Given the description of an element on the screen output the (x, y) to click on. 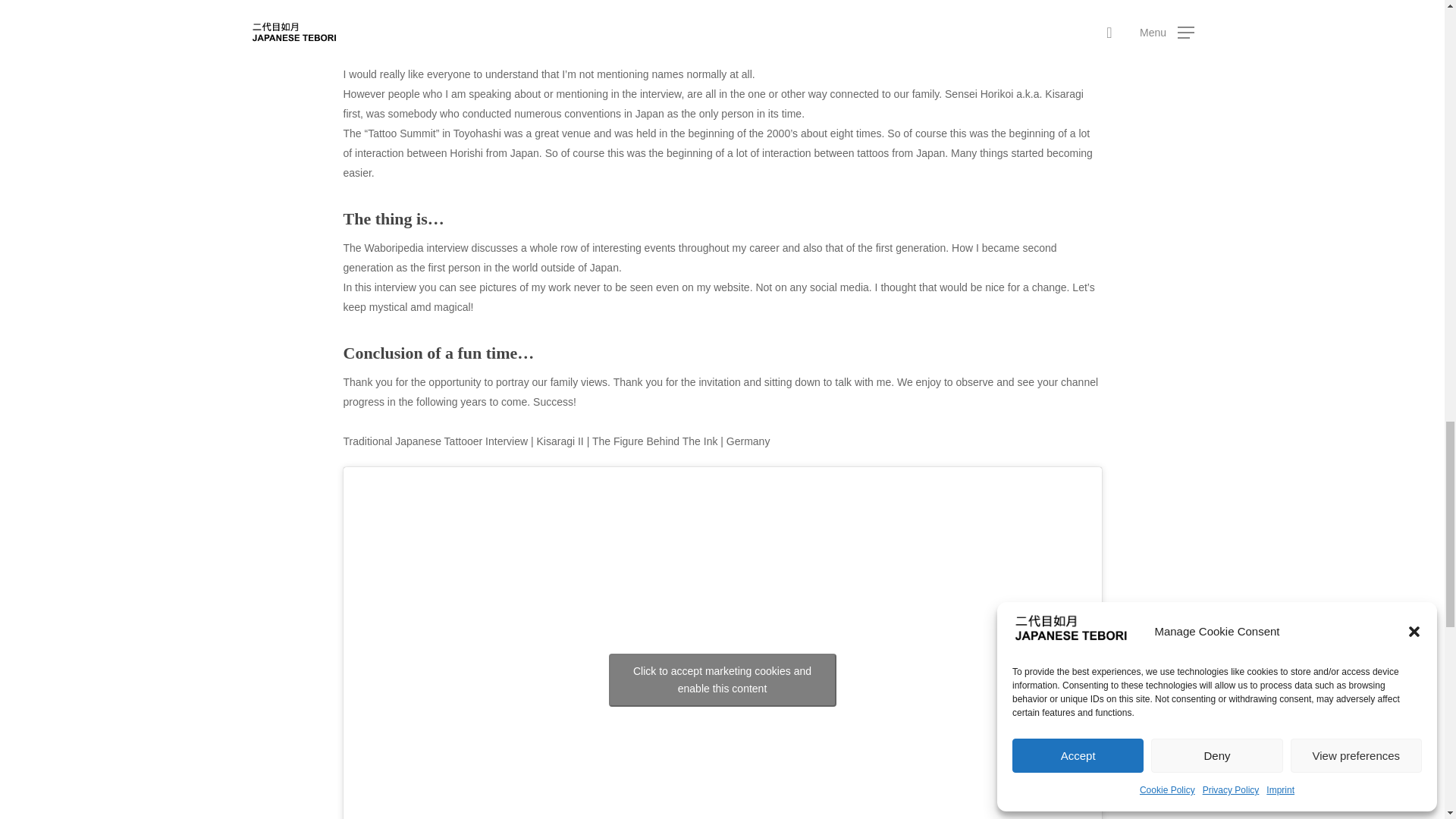
Click to accept marketing cookies and enable this content (721, 679)
